Given the description of an element on the screen output the (x, y) to click on. 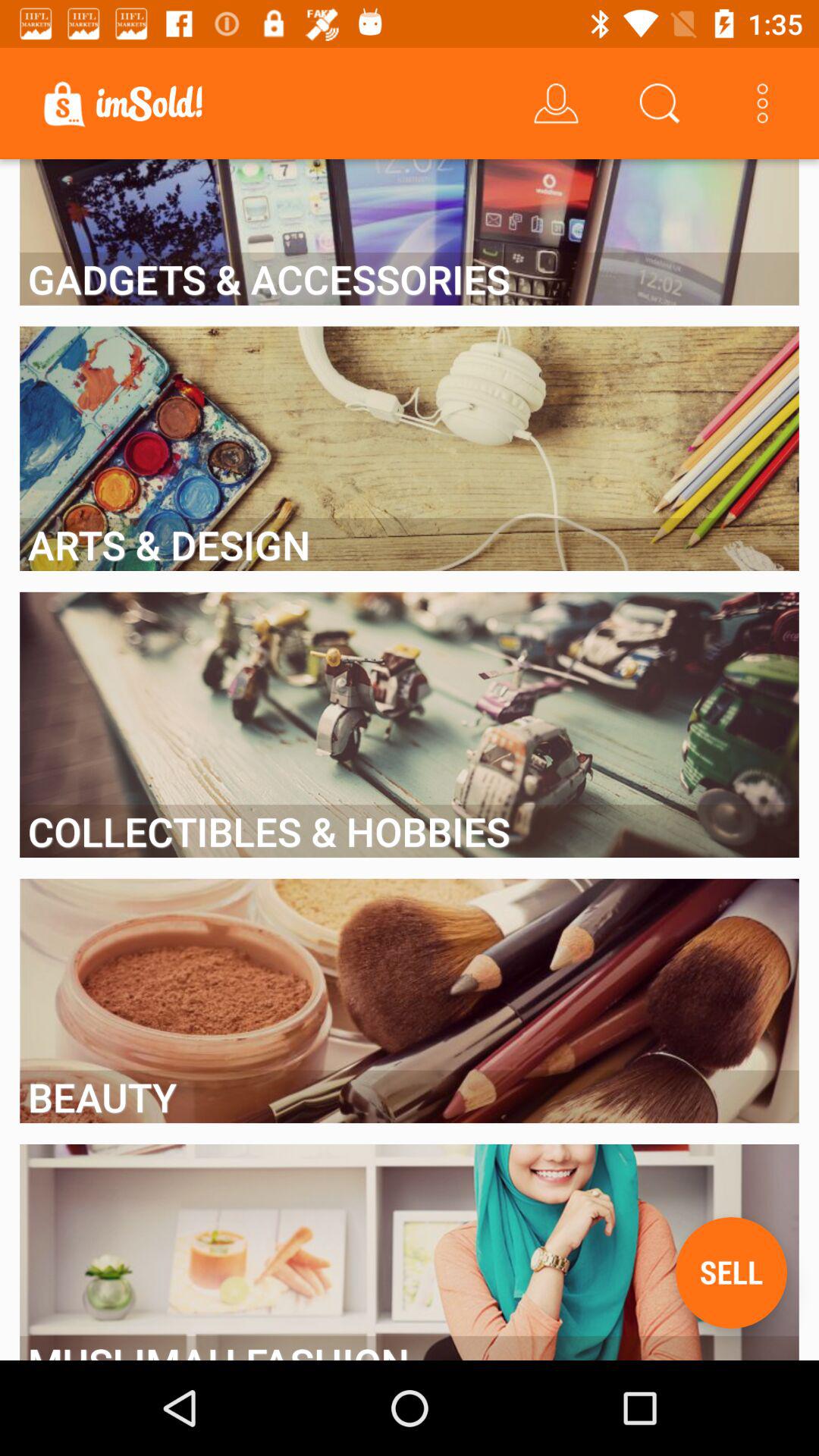
tap the muslimah fashion item (409, 1347)
